Given the description of an element on the screen output the (x, y) to click on. 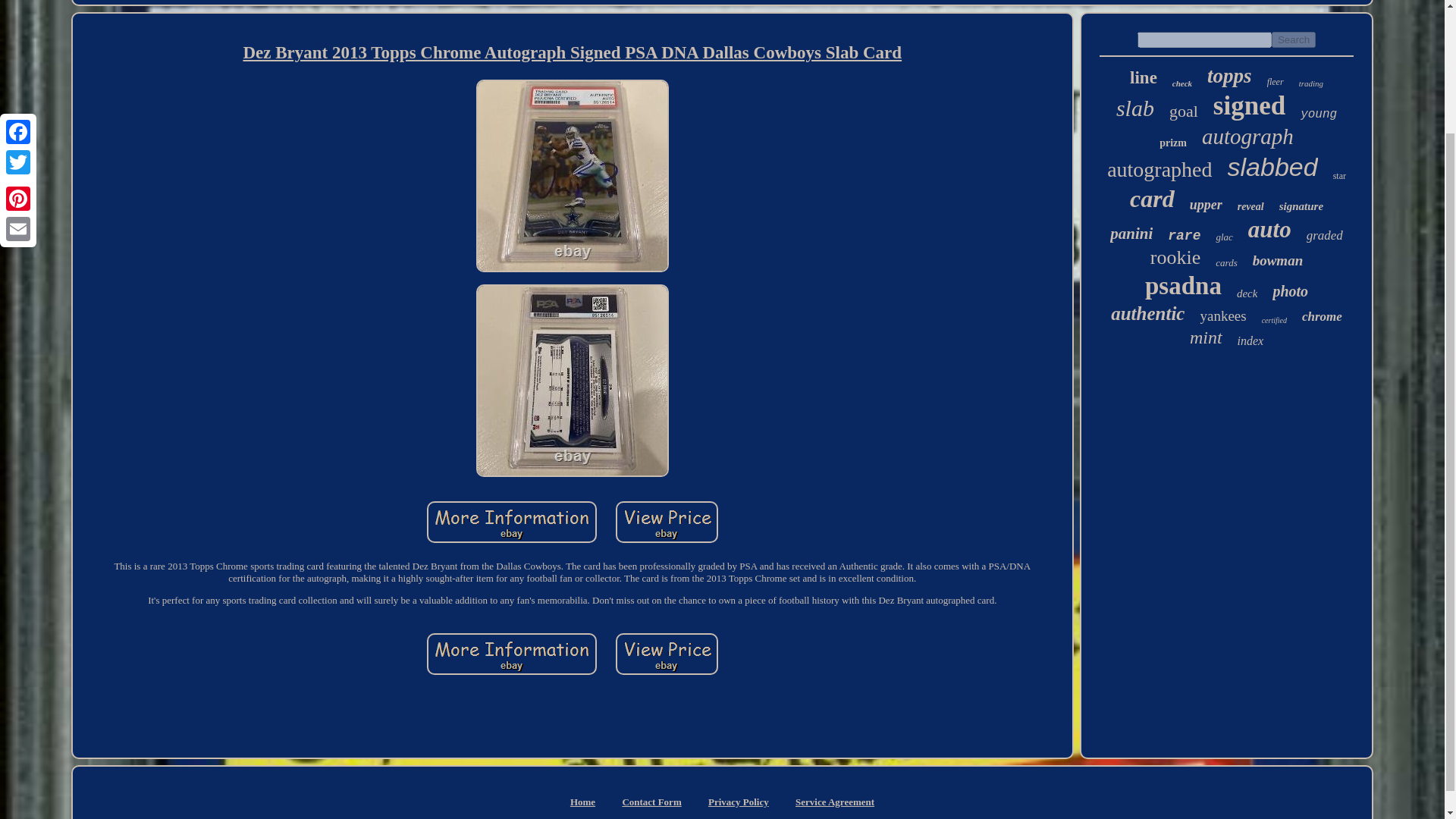
Search (1293, 39)
